Given the description of an element on the screen output the (x, y) to click on. 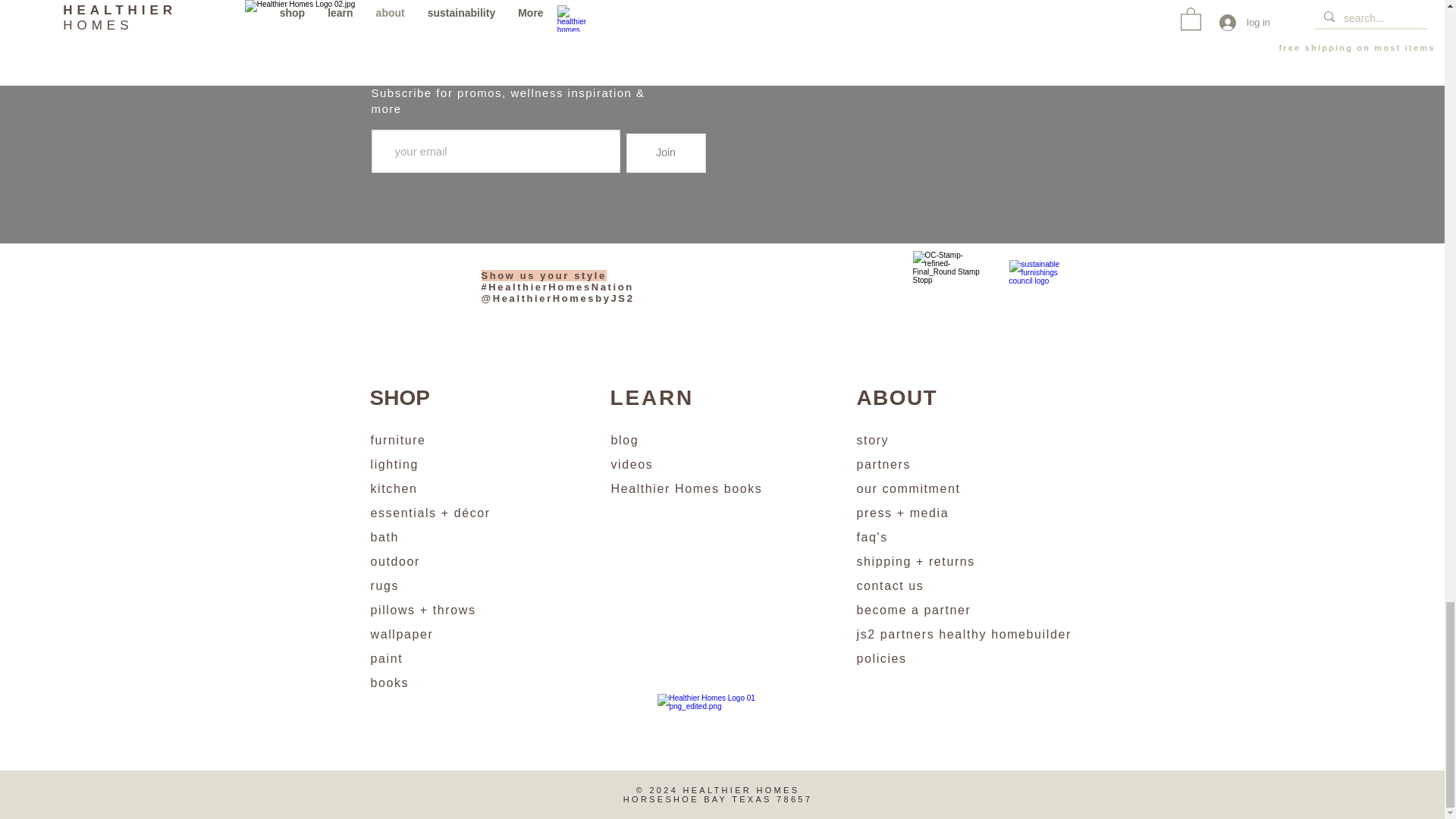
bath (383, 536)
outdoor (394, 561)
furniture (397, 440)
kitchen (392, 488)
SHOP (399, 397)
rugs (383, 585)
lighting (394, 463)
Join (666, 152)
